Given the description of an element on the screen output the (x, y) to click on. 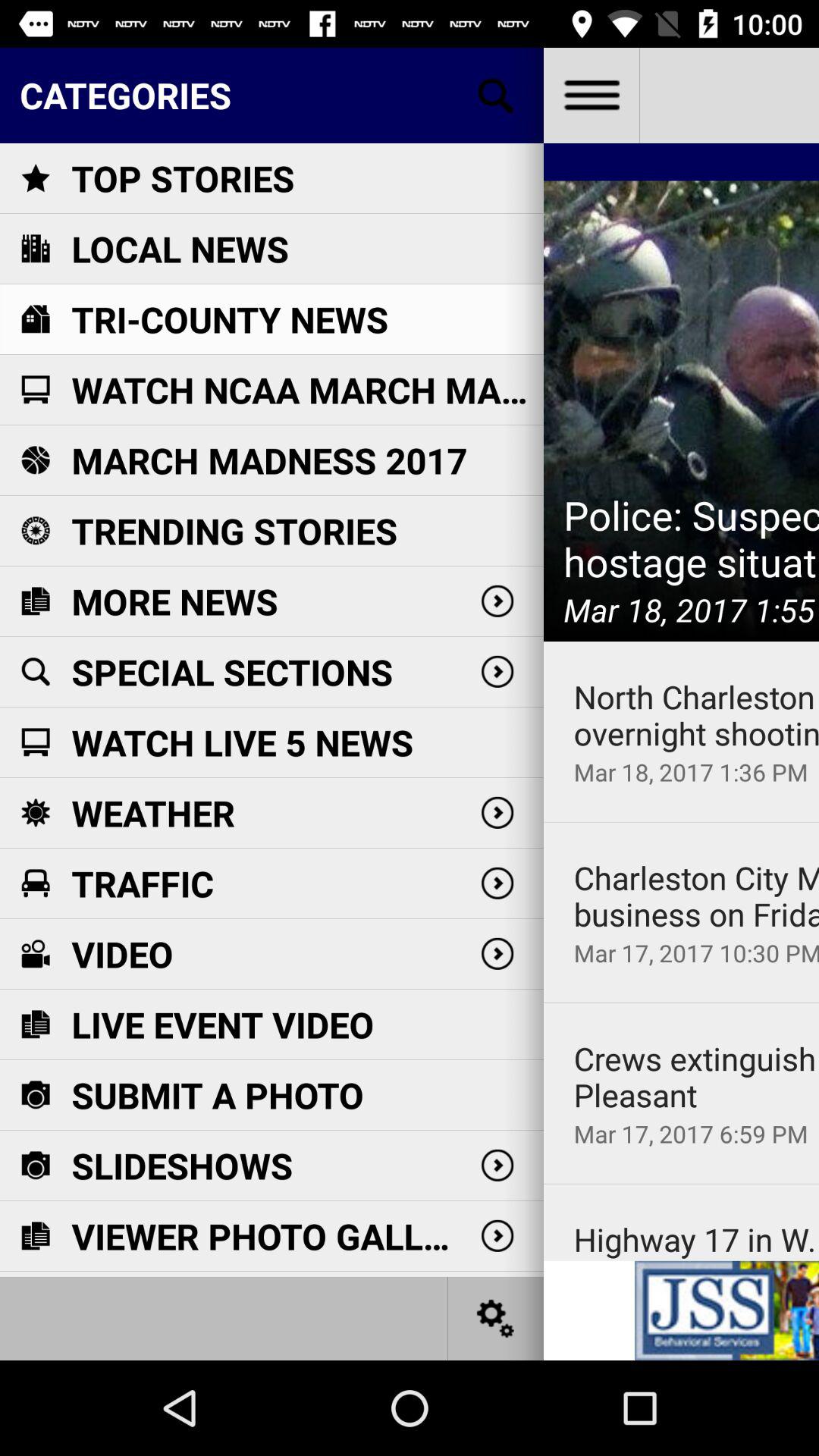
open the item below the top stories icon (179, 248)
